Given the description of an element on the screen output the (x, y) to click on. 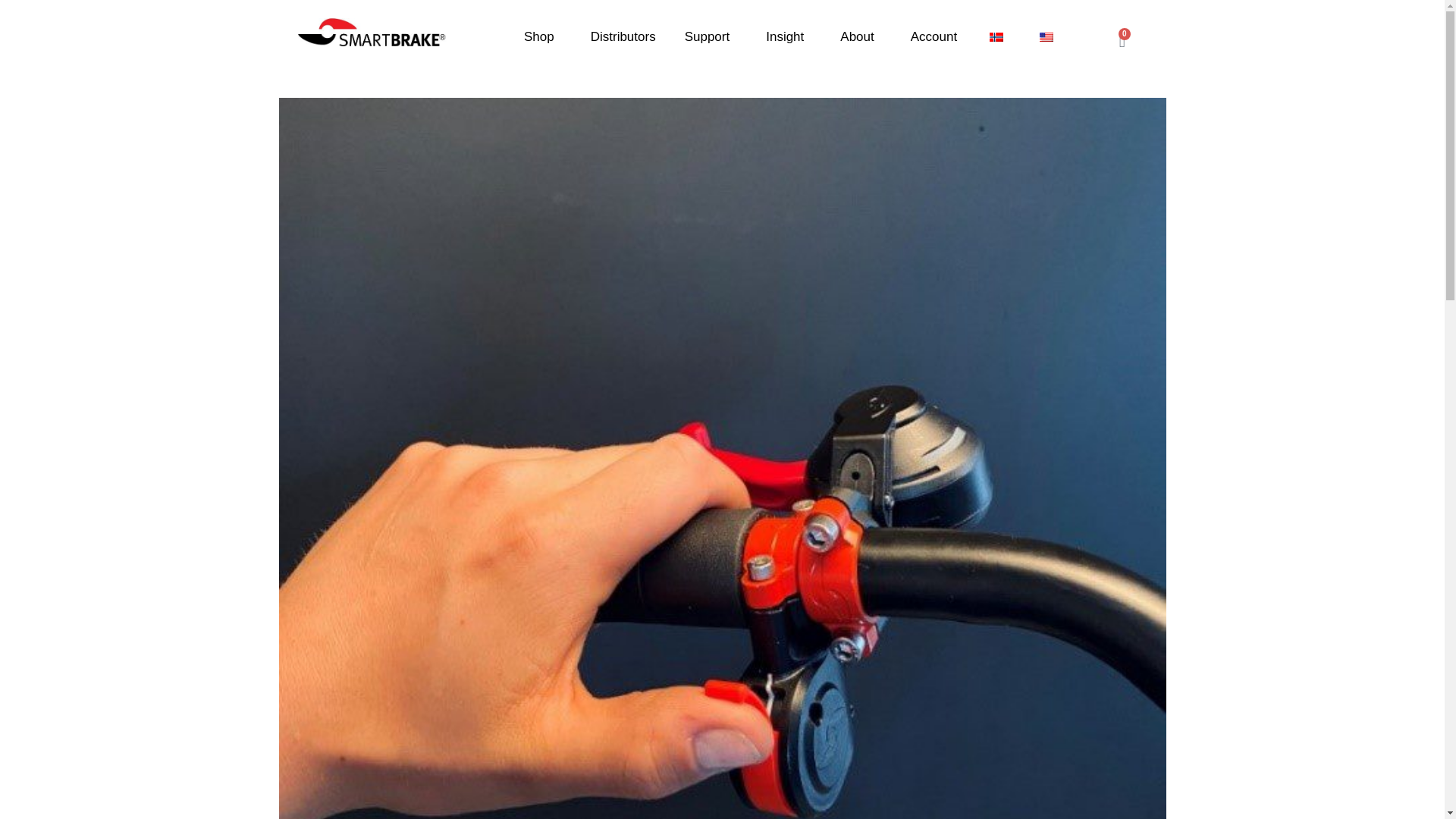
Norwegian (996, 35)
About (860, 36)
Distributors (623, 36)
Support (711, 36)
Insight (787, 36)
Account (933, 36)
Shop (543, 36)
English (1045, 35)
